Given the description of an element on the screen output the (x, y) to click on. 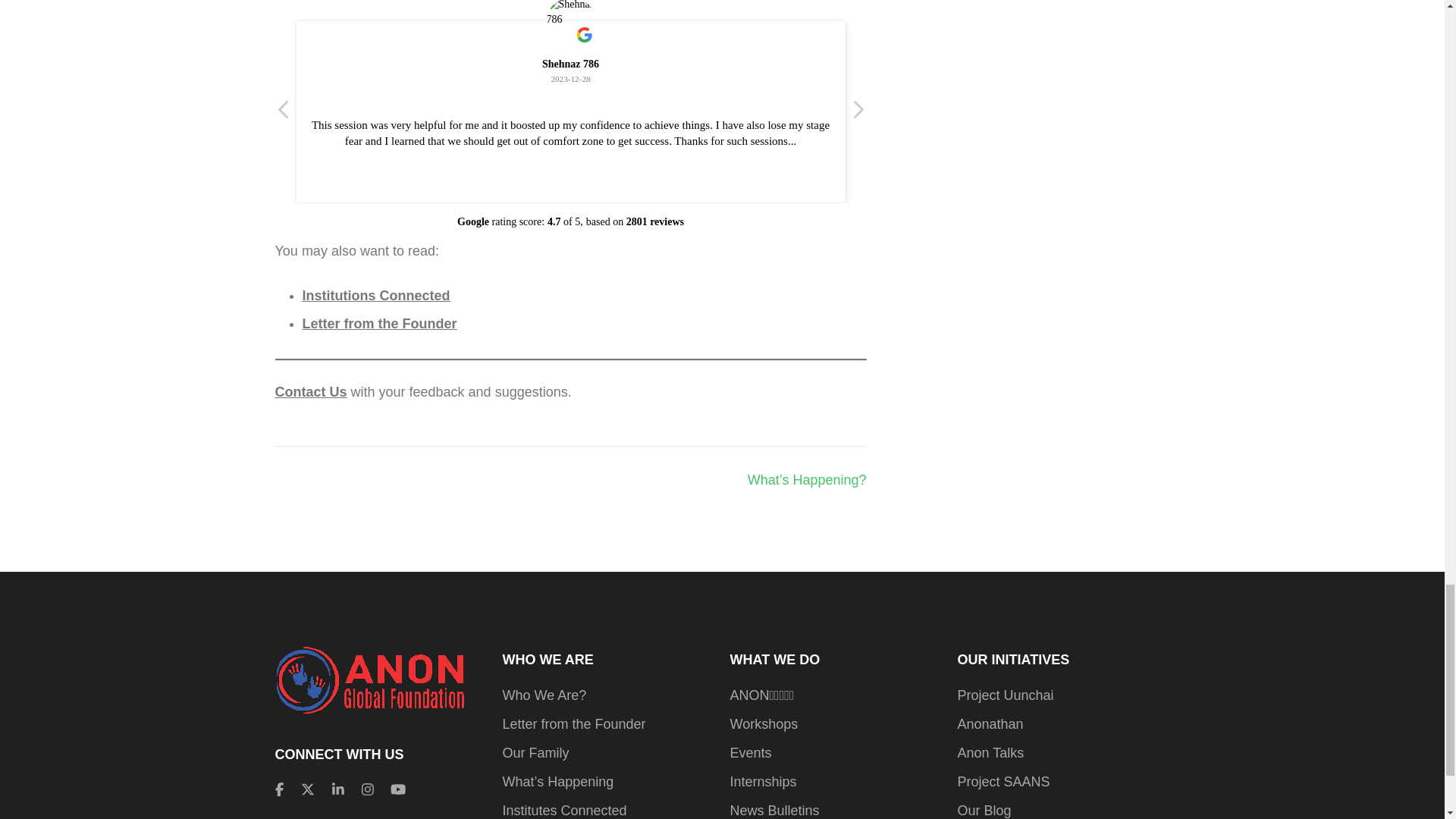
YouTube (398, 789)
Twitter (307, 789)
Facebook (278, 789)
Instagram (366, 789)
Linkedin (337, 789)
